Given the description of an element on the screen output the (x, y) to click on. 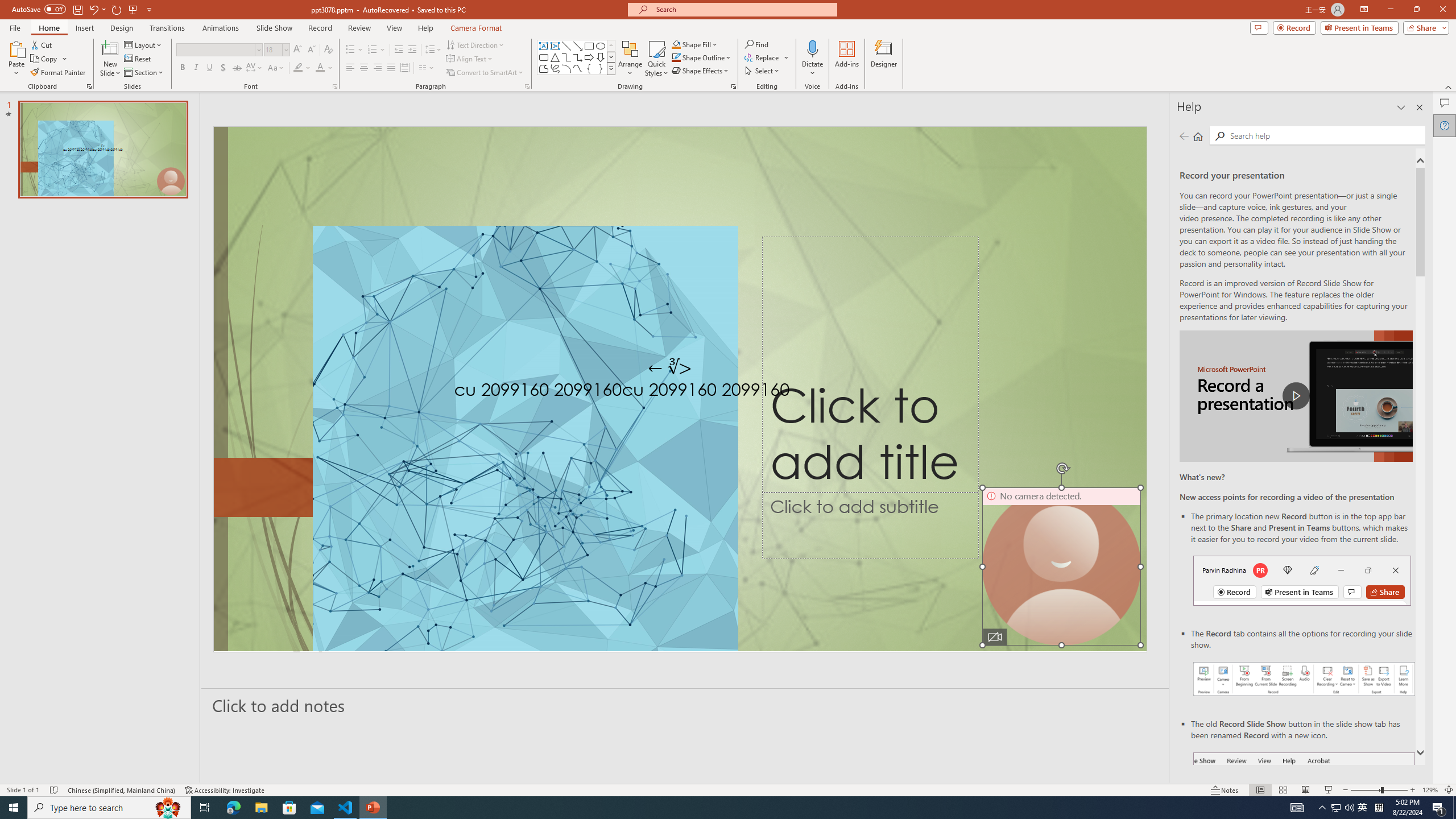
Format Painter (58, 72)
Font Size (273, 49)
Record button in top bar (1301, 580)
Font Color Red (320, 67)
Isosceles Triangle (554, 57)
Row Down (611, 56)
Microsoft search (742, 9)
Arrange (630, 58)
Underline (209, 67)
Collapse the Ribbon (1448, 86)
Layout (143, 44)
Zoom 129% (1430, 790)
Font... (334, 85)
